Given the description of an element on the screen output the (x, y) to click on. 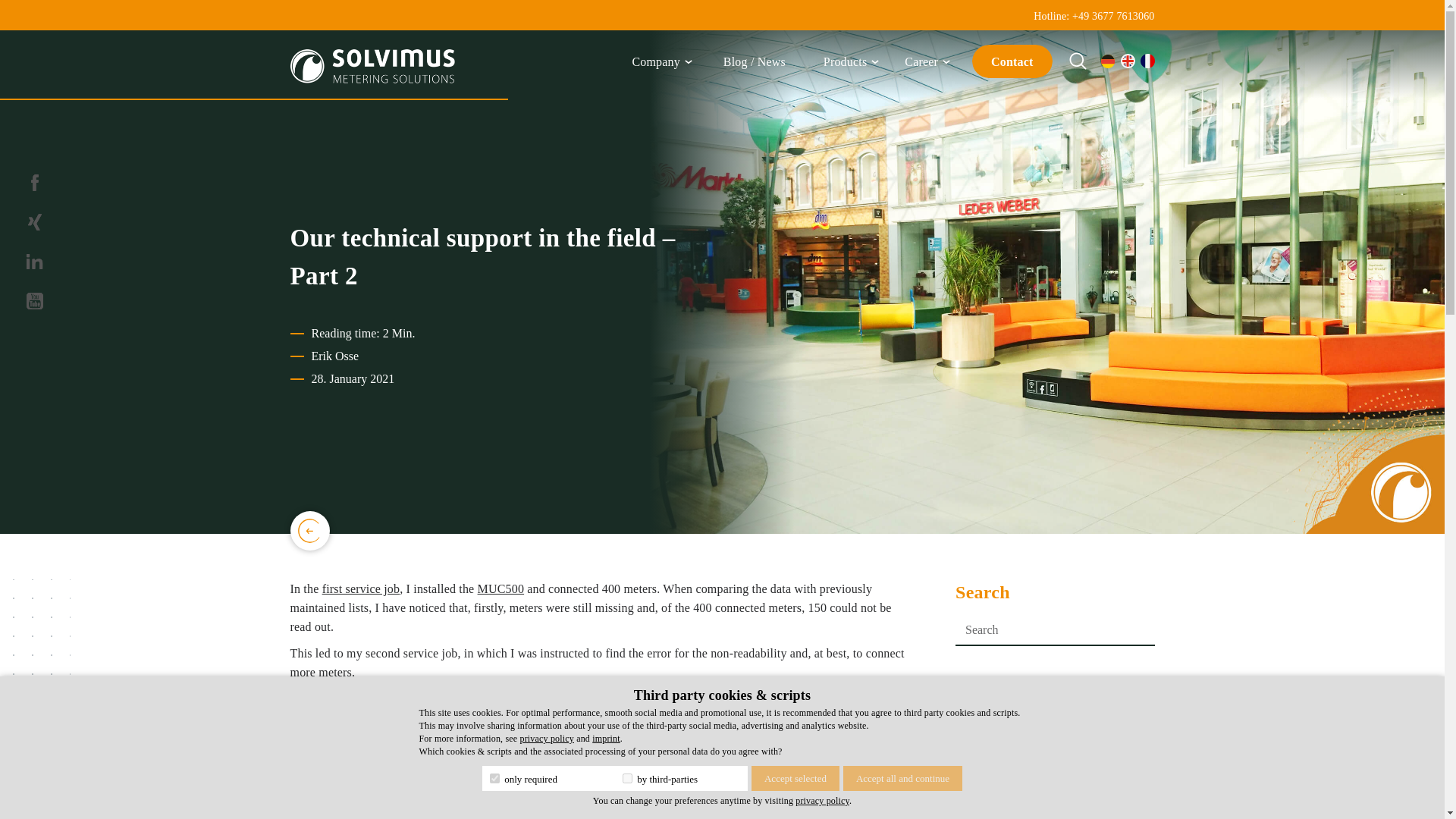
Career (920, 63)
Company (655, 63)
agree (494, 777)
Products (845, 63)
first service job (360, 588)
Contact (1011, 61)
agree (627, 777)
MUC500 (500, 588)
